Given the description of an element on the screen output the (x, y) to click on. 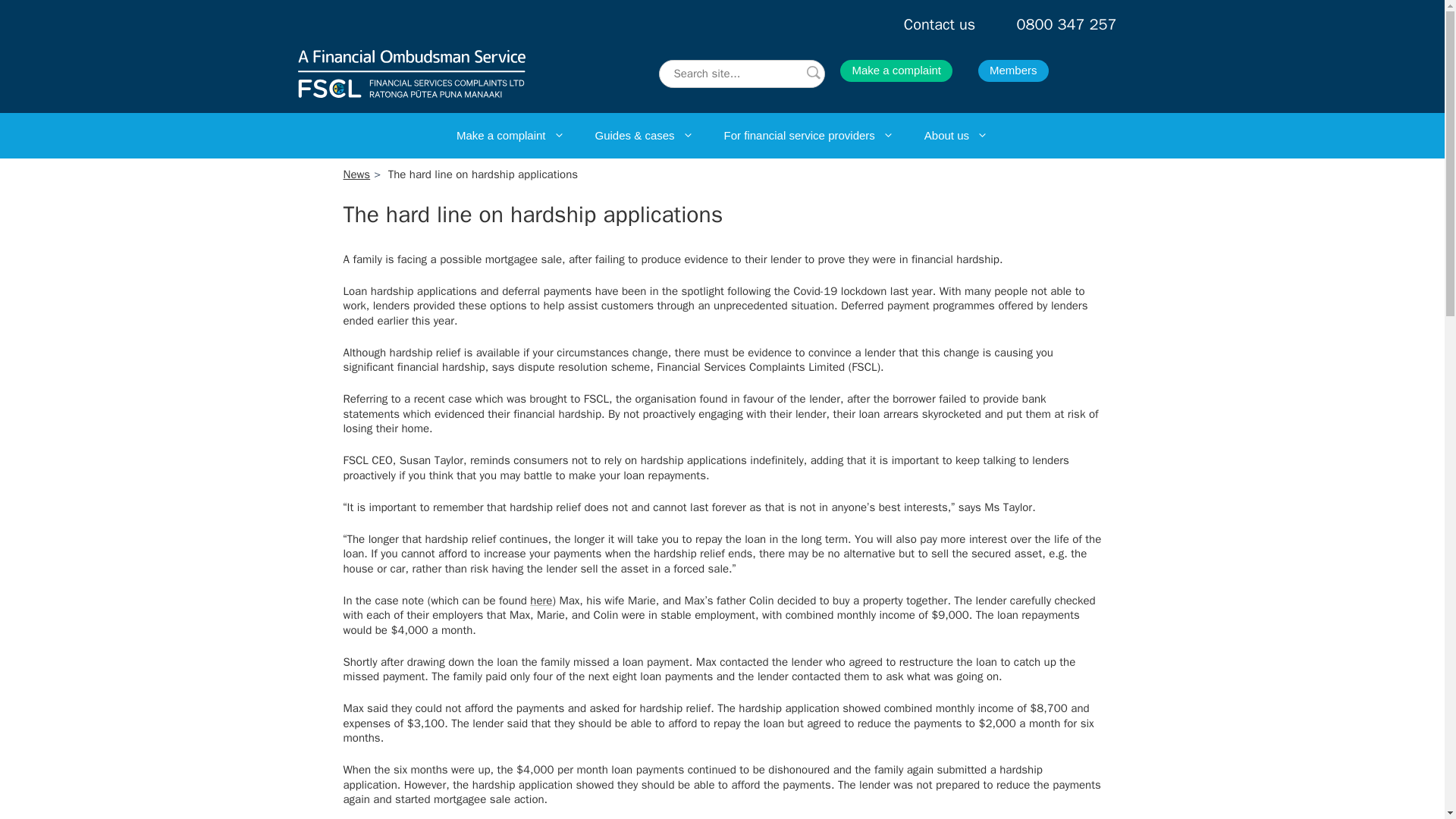
Make a complaint (896, 70)
About us (955, 135)
News (355, 173)
Members (1013, 70)
here (540, 600)
0800 347 257 (1066, 24)
For financial service providers (808, 135)
Make a complaint (510, 135)
Contact us (939, 24)
